Given the description of an element on the screen output the (x, y) to click on. 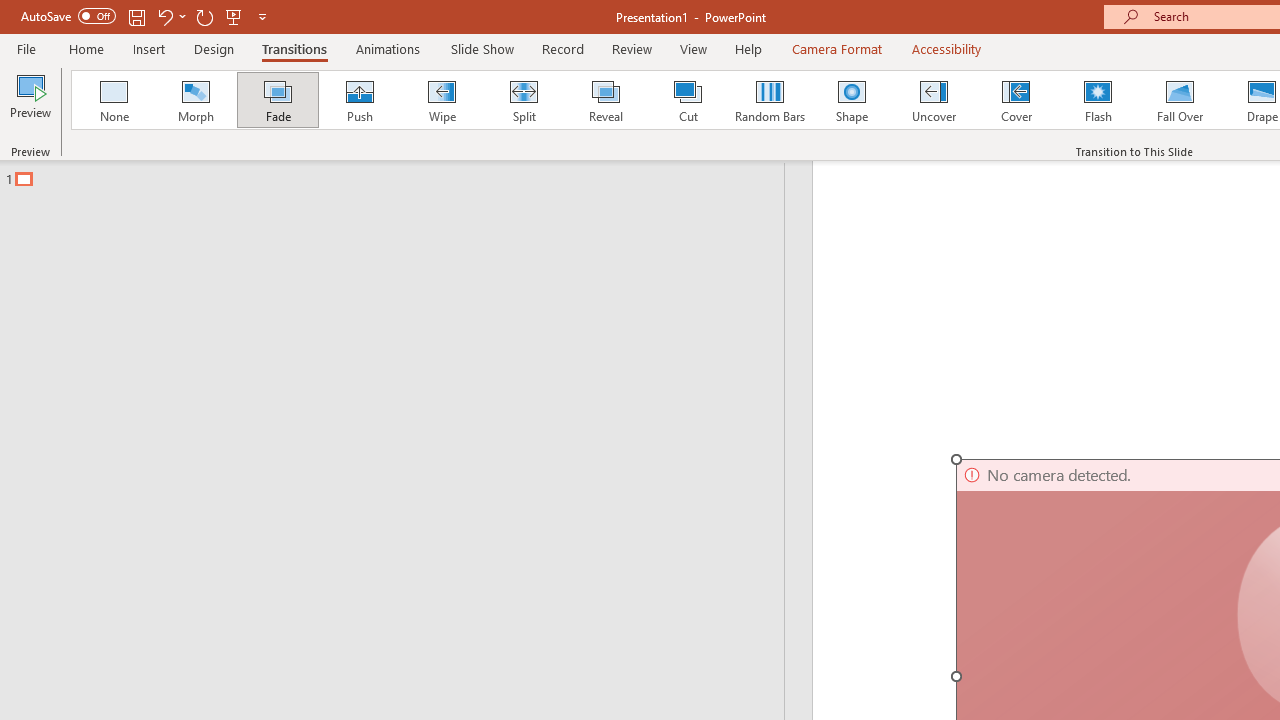
Fade (277, 100)
Cover (1016, 100)
Preview (30, 102)
Fall Over (1180, 100)
Reveal (605, 100)
